Given the description of an element on the screen output the (x, y) to click on. 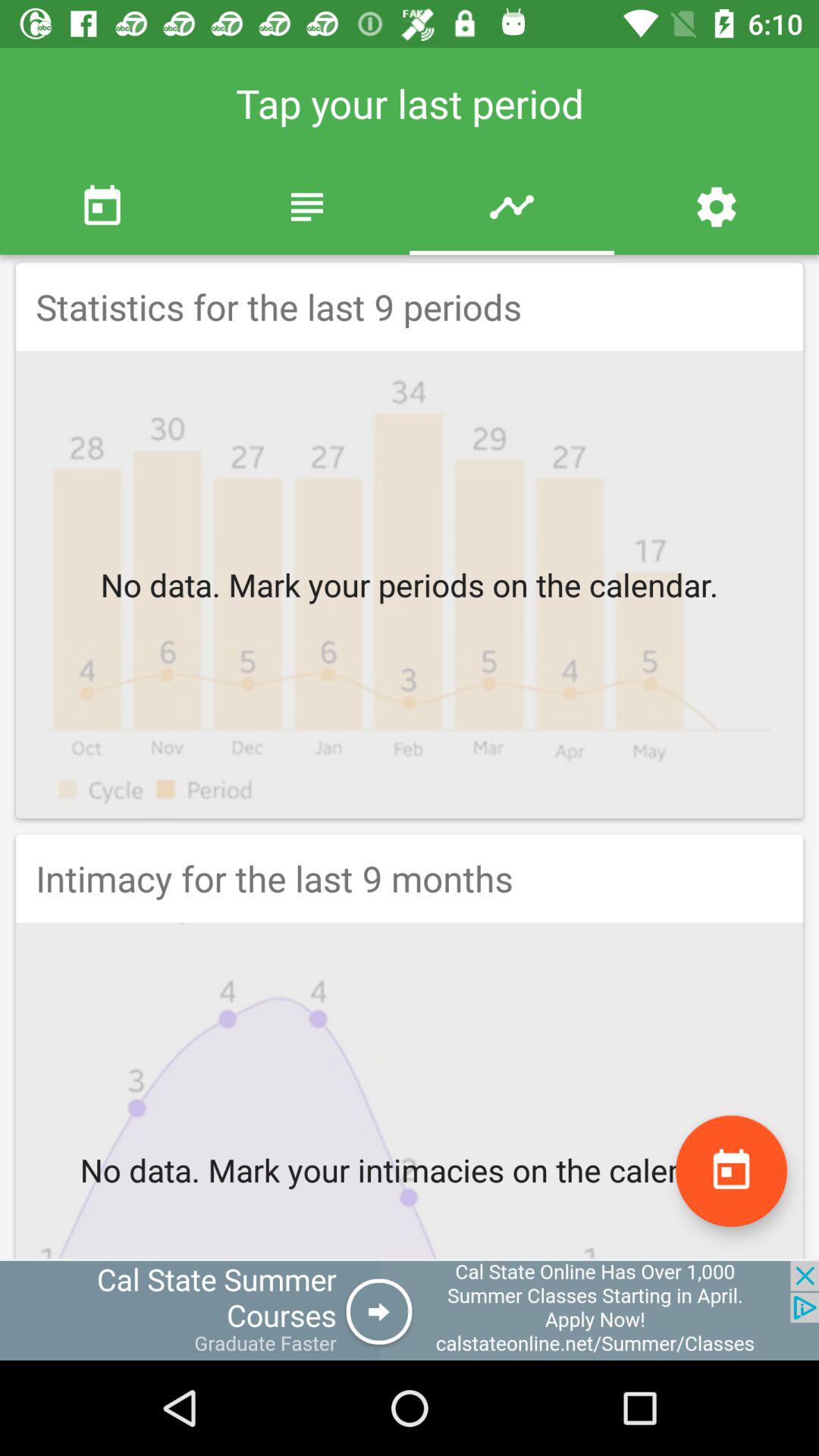
open an advertisements (409, 1310)
